Given the description of an element on the screen output the (x, y) to click on. 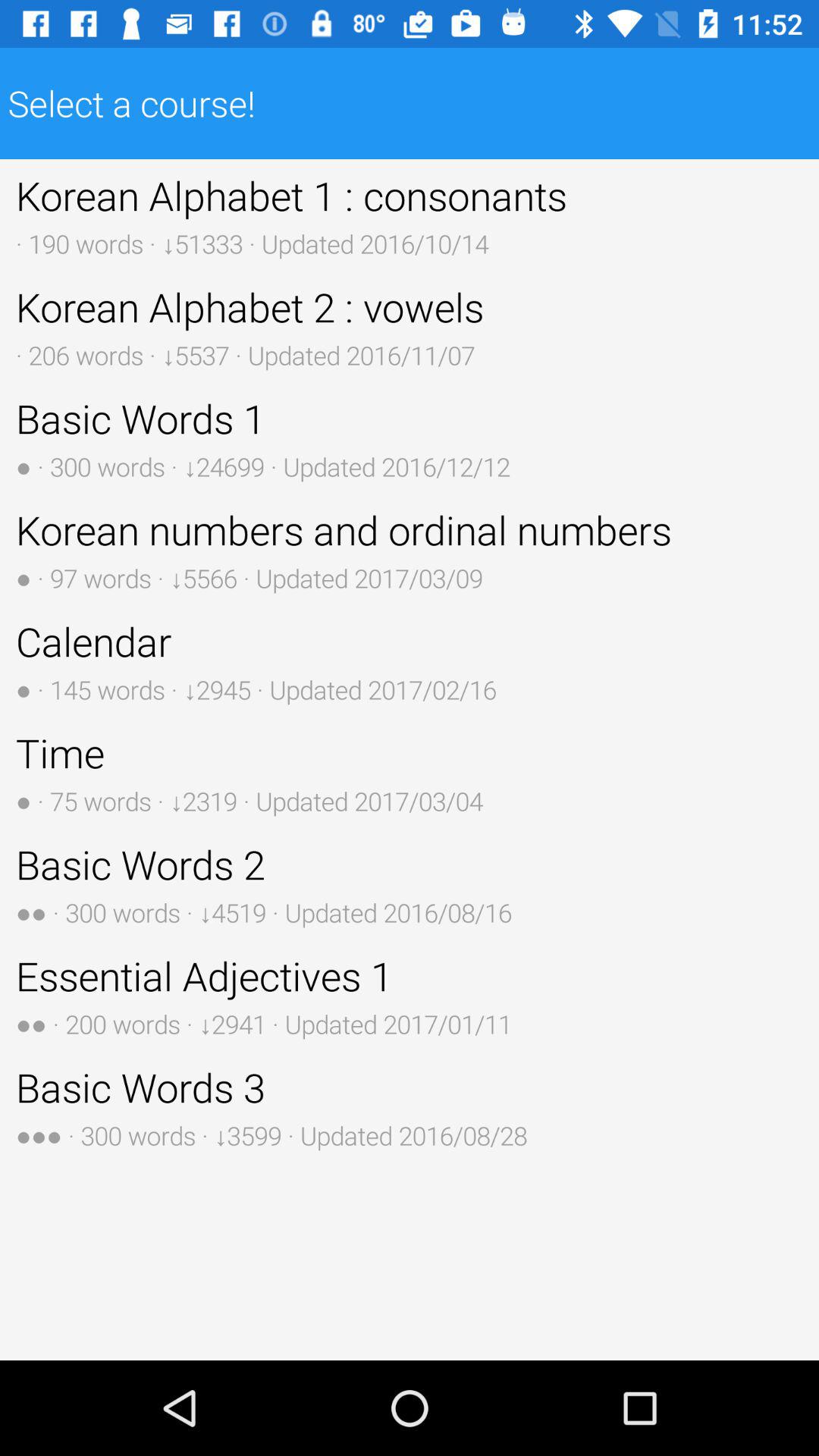
jump until time 75 words button (409, 772)
